Given the description of an element on the screen output the (x, y) to click on. 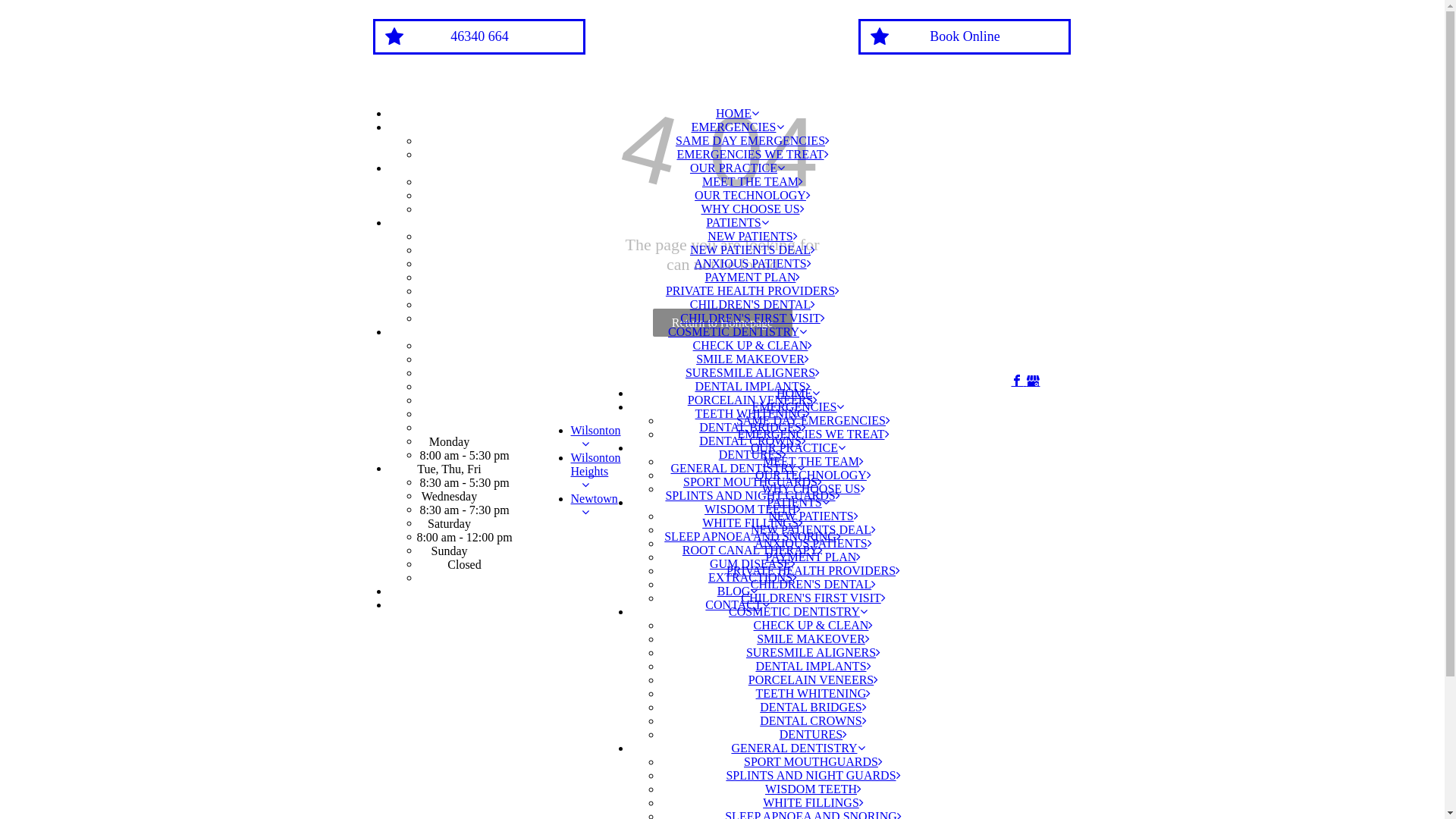
WHITE FILLINGS Element type: text (752, 522)
EMERGENCIES Element type: text (737, 126)
SURESMILE ALIGNERS Element type: text (752, 372)
Book Online Element type: text (964, 36)
CHECK UP & CLEAN Element type: text (752, 344)
DENTURES Element type: text (752, 454)
MEET THE TEAM Element type: text (812, 461)
ANXIOUS PATIENTS Element type: text (751, 263)
NEW PATIENTS Element type: text (812, 515)
COSMETIC DENTISTRY Element type: text (797, 611)
OUR TECHNOLOGY Element type: text (813, 474)
CHILDREN'S FIRST VISIT Element type: text (752, 317)
DENTAL CROWNS Element type: text (752, 440)
WHITE FILLINGS Element type: text (812, 802)
EMERGENCIES Element type: text (797, 406)
PRIVATE HEALTH PROVIDERS Element type: text (813, 570)
HOME Element type: text (797, 392)
DENTAL IMPLANTS Element type: text (751, 385)
Wilsonton Element type: text (595, 436)
WHY CHOOSE US Element type: text (812, 488)
BLOG Element type: text (737, 590)
DENTURES Element type: text (813, 734)
NEW PATIENTS DEAL Element type: text (752, 249)
OUR PRACTICE Element type: text (737, 167)
PAYMENT PLAN Element type: text (813, 556)
HOME Element type: text (737, 112)
OUR PRACTICE Element type: text (797, 447)
DENTAL CROWNS Element type: text (812, 720)
EMERGENCIES WE TREAT Element type: text (812, 433)
Wilsonton Heights Element type: text (595, 470)
MEET THE TEAM Element type: text (752, 181)
WISDOM TEETH Element type: text (813, 788)
PAYMENT PLAN Element type: text (752, 276)
ROOT CANAL THERAPY Element type: text (752, 549)
NEW PATIENTS DEAL Element type: text (812, 529)
CHILDREN'S FIRST VISIT Element type: text (812, 597)
ANXIOUS PATIENTS Element type: text (812, 542)
TEETH WHITENING Element type: text (813, 693)
EMERGENCIES WE TREAT Element type: text (752, 153)
EXTRACTIONS Element type: text (752, 577)
SAME DAY EMERGENCIES Element type: text (752, 140)
CHILDREN'S DENTAL Element type: text (752, 304)
DENTAL IMPLANTS Element type: text (812, 665)
Return to Homepage Element type: text (721, 322)
NEW PATIENTS Element type: text (752, 235)
PORCELAIN VENEERS Element type: text (813, 679)
GUM DISEASE Element type: text (752, 563)
PORCELAIN VENEERS Element type: text (752, 399)
SPLINTS AND NIGHT GUARDS Element type: text (752, 495)
PRIVATE HEALTH PROVIDERS Element type: text (752, 290)
PATIENTS Element type: text (797, 501)
CHECK UP & CLEAN Element type: text (813, 624)
DENTAL BRIDGES Element type: text (812, 706)
WISDOM TEETH Element type: text (752, 508)
CHILDREN'S DENTAL Element type: text (812, 583)
SLEEP APNOEA AND SNORING Element type: text (752, 536)
COSMETIC DENTISTRY Element type: text (737, 331)
SPORT MOUTHGUARDS Element type: text (752, 481)
GENERAL DENTISTRY Element type: text (736, 467)
SMILE MAKEOVER Element type: text (752, 358)
SMILE MAKEOVER Element type: text (812, 638)
OUR TECHNOLOGY Element type: text (752, 194)
SPORT MOUTHGUARDS Element type: text (812, 761)
GENERAL DENTISTRY Element type: text (797, 747)
PATIENTS Element type: text (737, 222)
TEETH WHITENING Element type: text (752, 413)
SAME DAY EMERGENCIES Element type: text (813, 420)
SPLINTS AND NIGHT GUARDS Element type: text (812, 774)
SURESMILE ALIGNERS Element type: text (813, 652)
46340 664 Element type: text (479, 36)
DENTAL BRIDGES Element type: text (752, 426)
WHY CHOOSE US Element type: text (751, 208)
Newtown Element type: text (593, 504)
CONTACT Element type: text (736, 604)
